Given the description of an element on the screen output the (x, y) to click on. 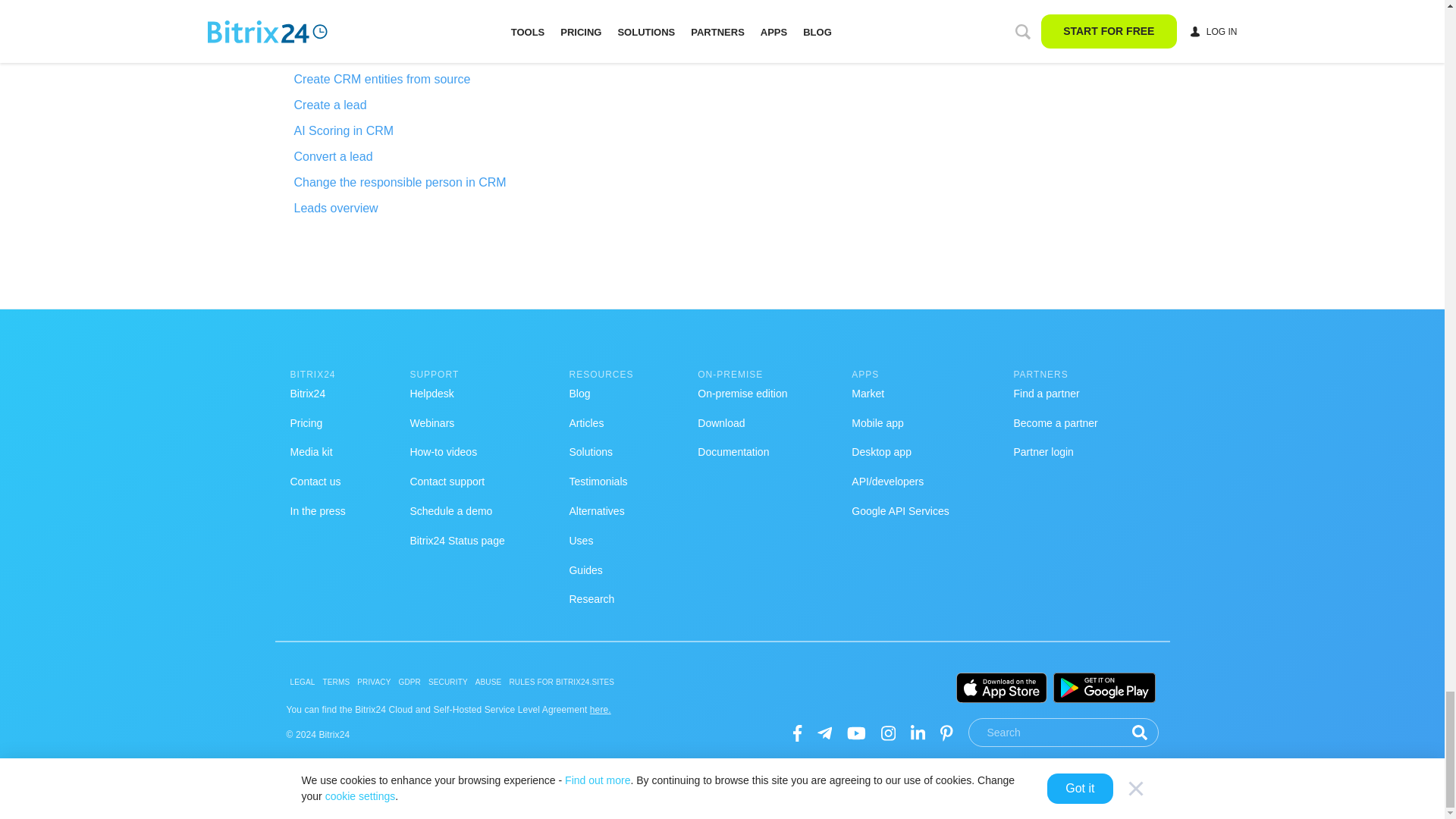
AI Scoring in CRM (406, 131)
Create CRM entities from source (406, 79)
Convert a lead (406, 157)
Create a lead (406, 105)
